Given the description of an element on the screen output the (x, y) to click on. 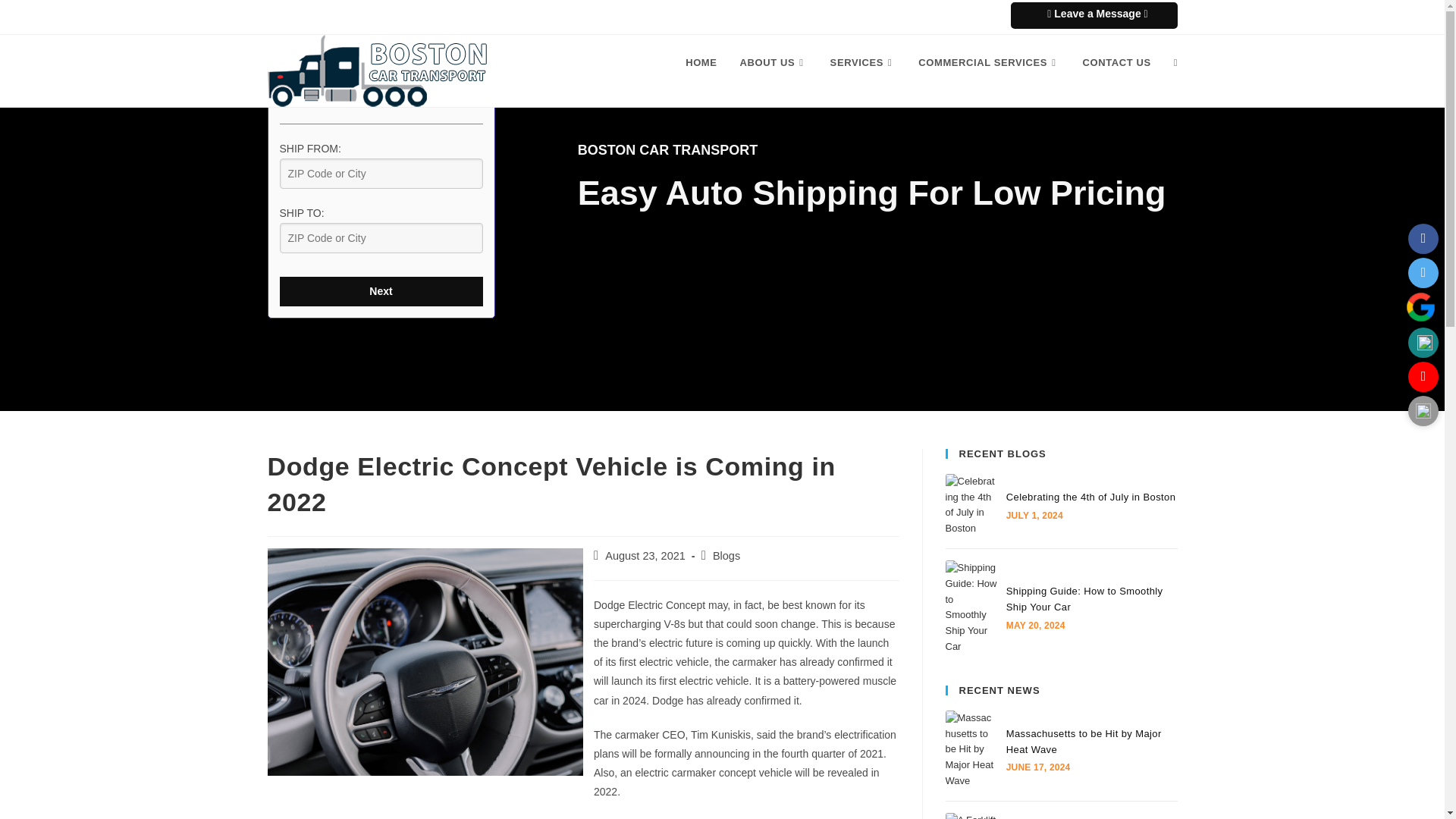
Google reviews (1420, 306)
HOME (701, 62)
Enter a location (380, 237)
Enter a location (380, 173)
ABOUT US (773, 62)
A Forklift Was Hit By a Car in Fenway Park (969, 816)
COMMERCIAL SERVICES (988, 62)
Next (380, 291)
Blogs (726, 555)
SERVICES (862, 62)
CONTACT US (1115, 62)
